Given the description of an element on the screen output the (x, y) to click on. 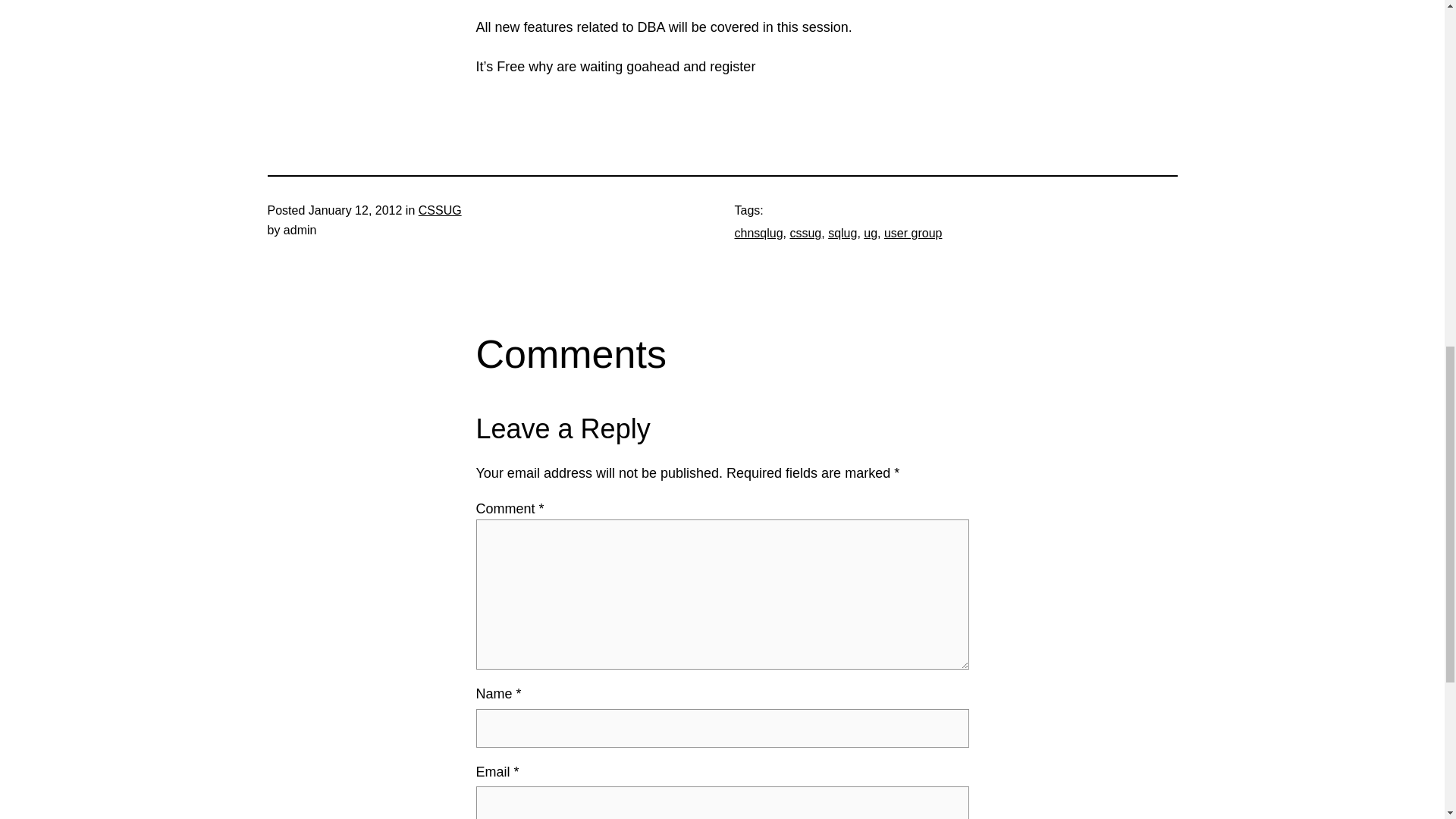
CSSUG (440, 210)
sqlug (842, 232)
chnsqlug (758, 232)
ug (870, 232)
user group (912, 232)
cssug (805, 232)
